Given the description of an element on the screen output the (x, y) to click on. 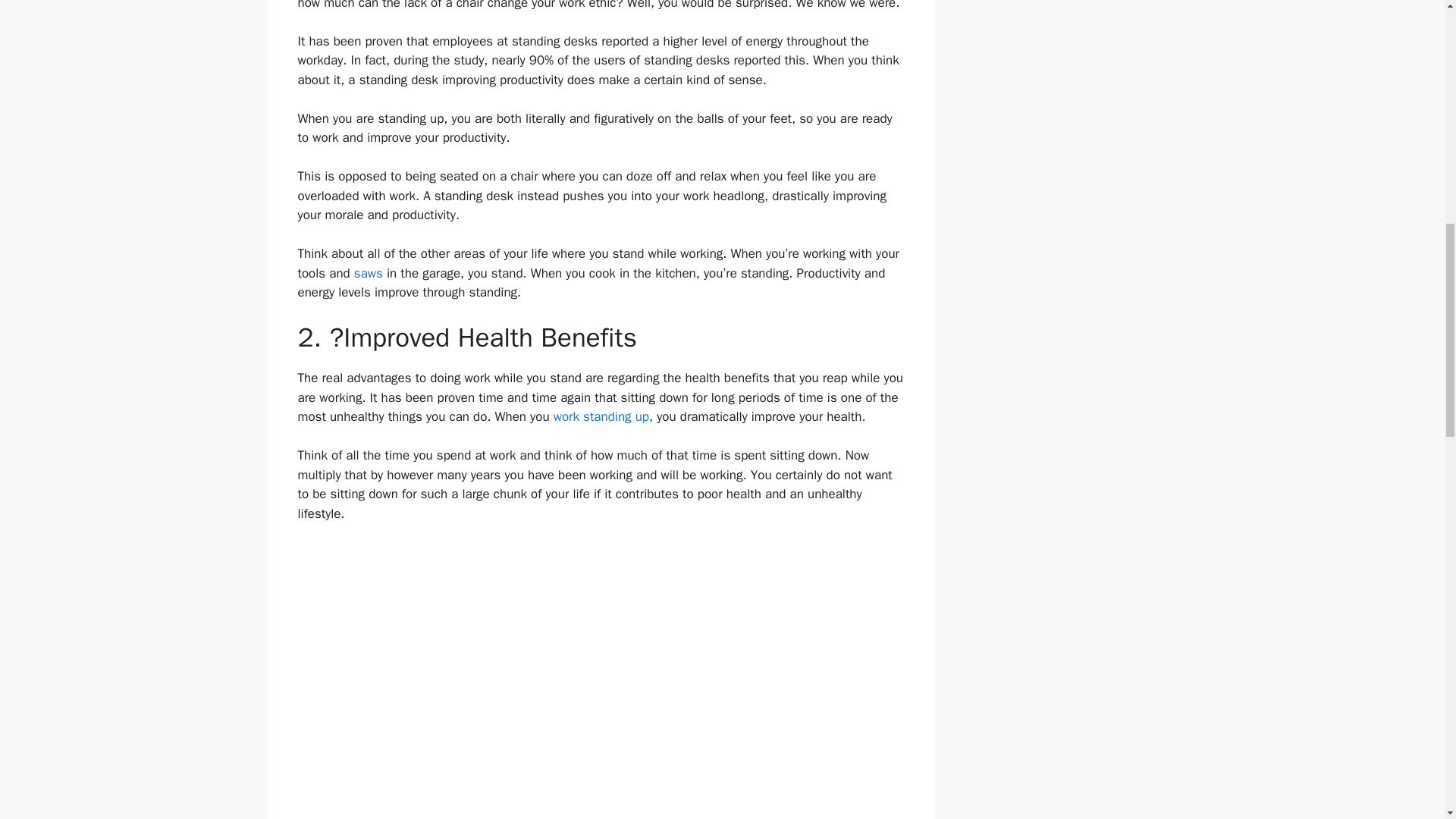
saws (367, 273)
work standing up (601, 416)
